Given the description of an element on the screen output the (x, y) to click on. 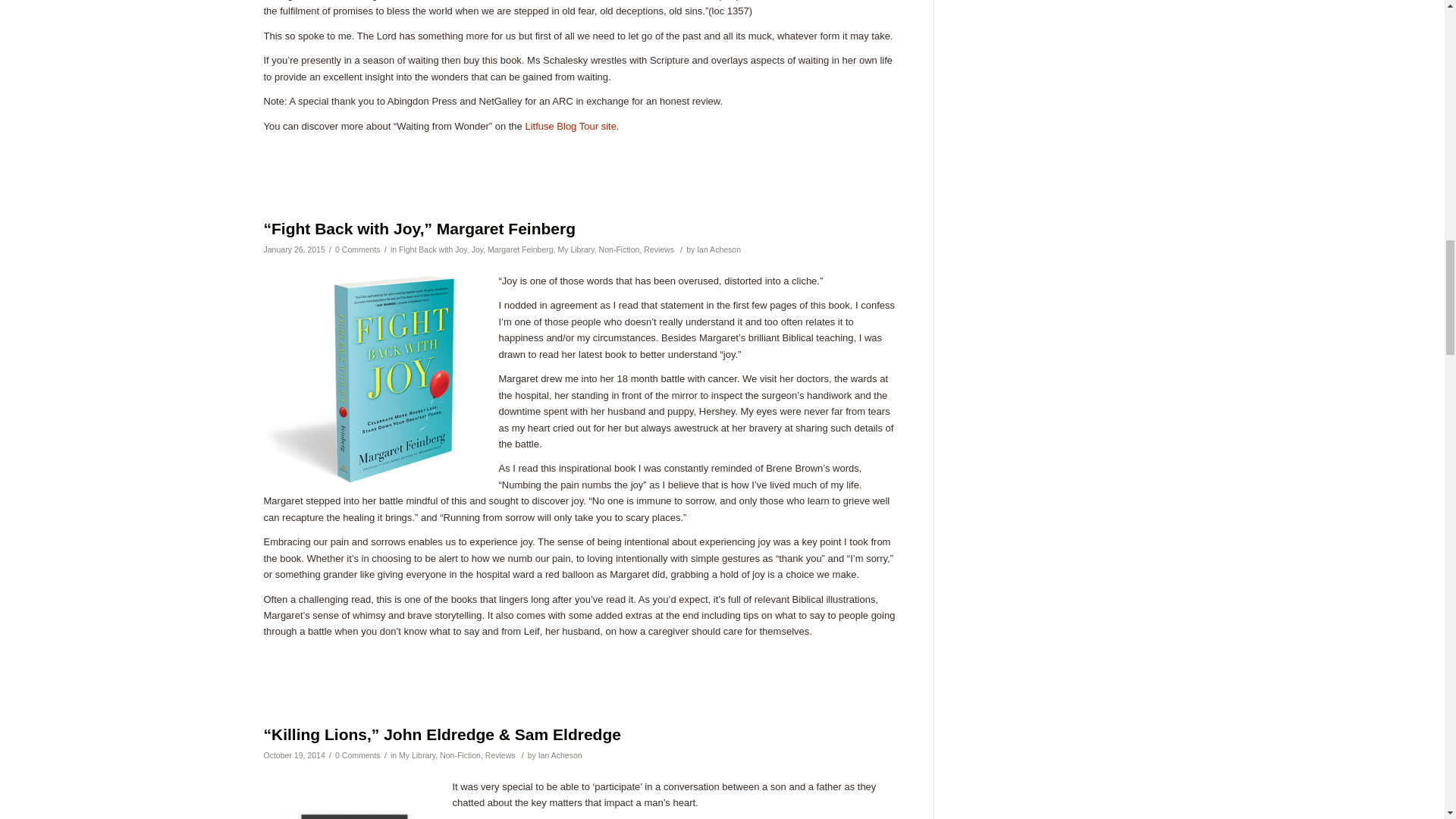
Posts by Ian Acheson (560, 755)
Posts by Ian Acheson (719, 248)
